Given the description of an element on the screen output the (x, y) to click on. 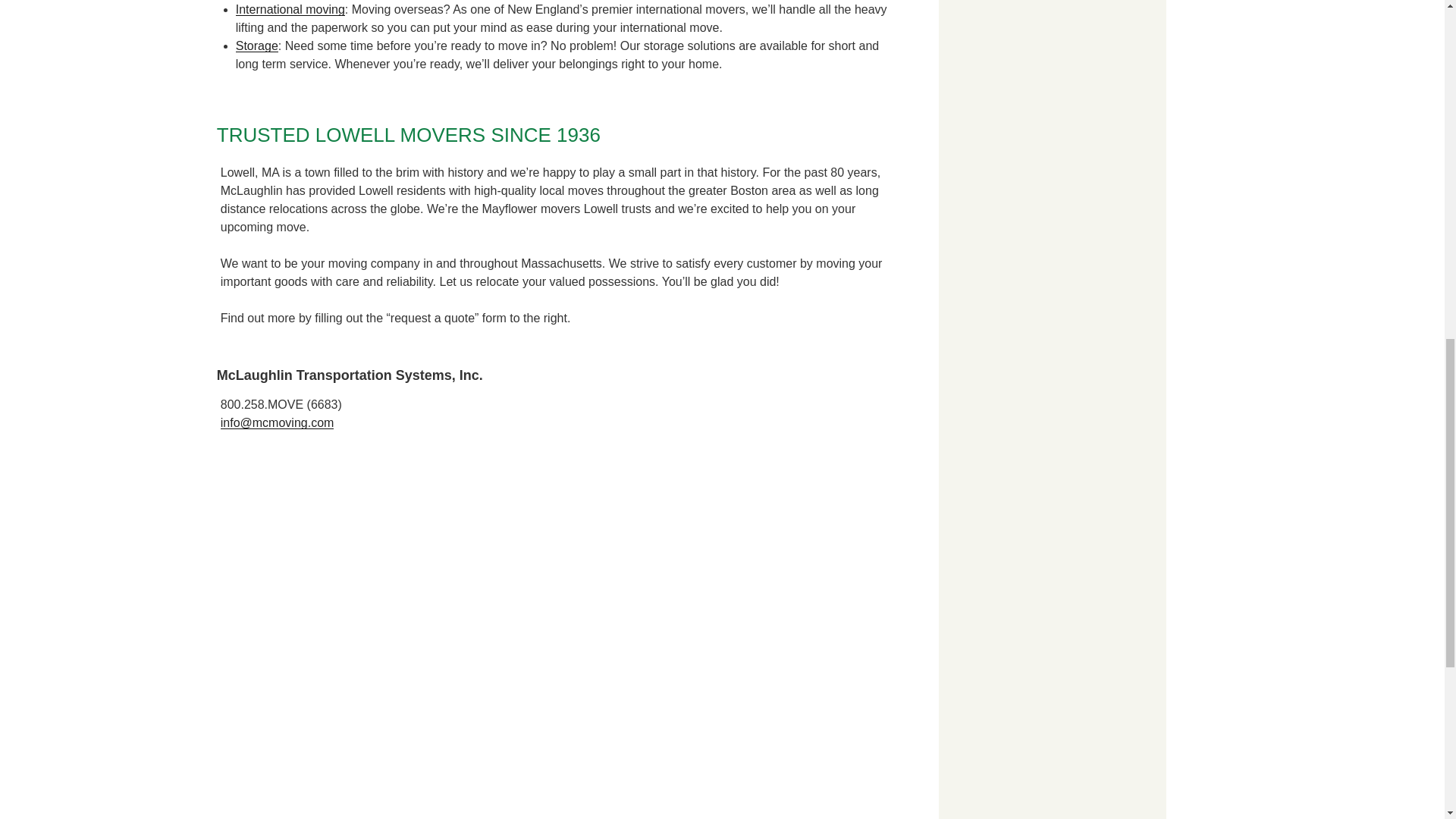
International moving (290, 9)
Storage (256, 45)
